Given the description of an element on the screen output the (x, y) to click on. 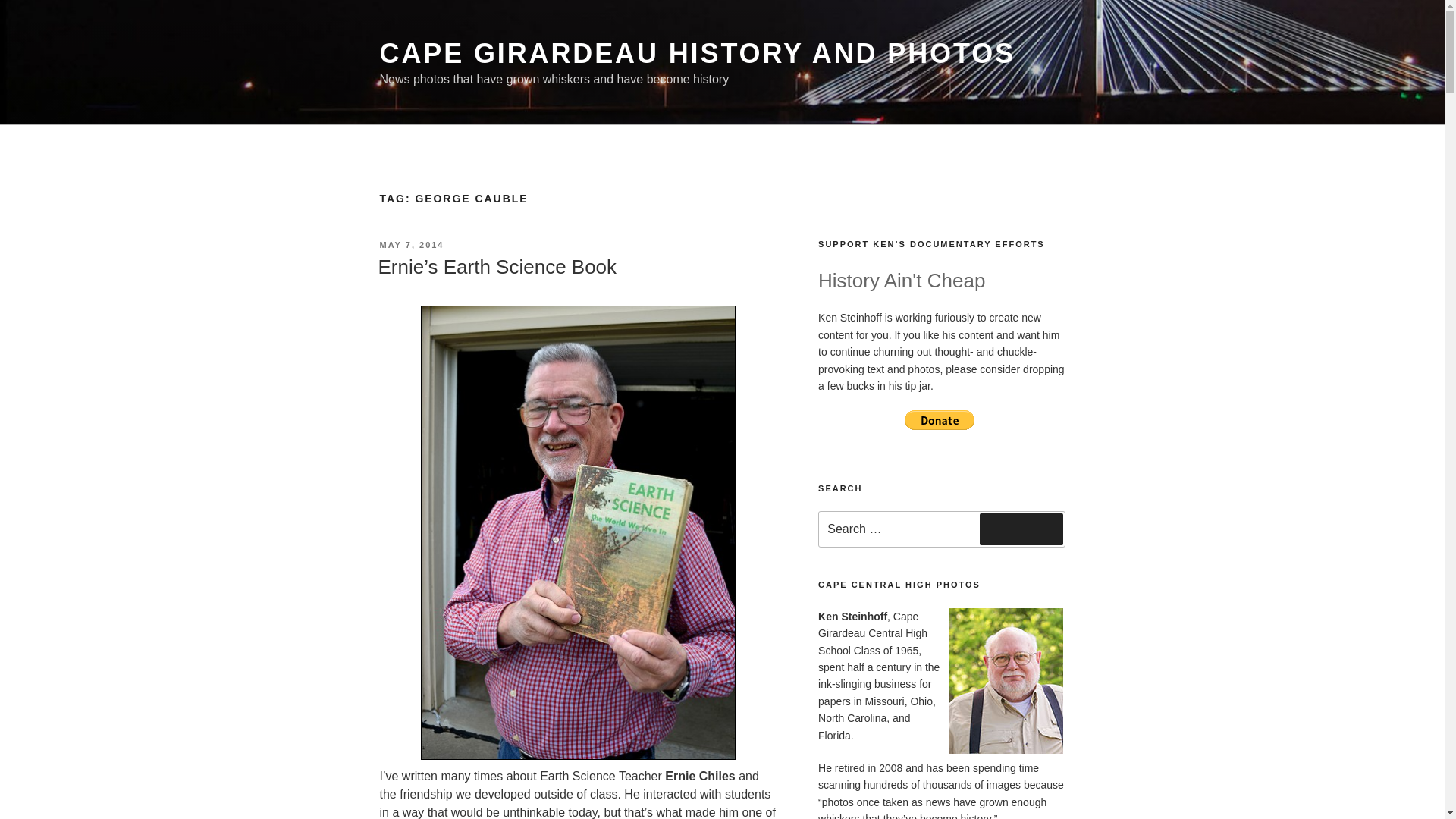
CAPE GIRARDEAU HISTORY AND PHOTOS (696, 52)
MAY 7, 2014 (411, 244)
Search (1020, 529)
